Given the description of an element on the screen output the (x, y) to click on. 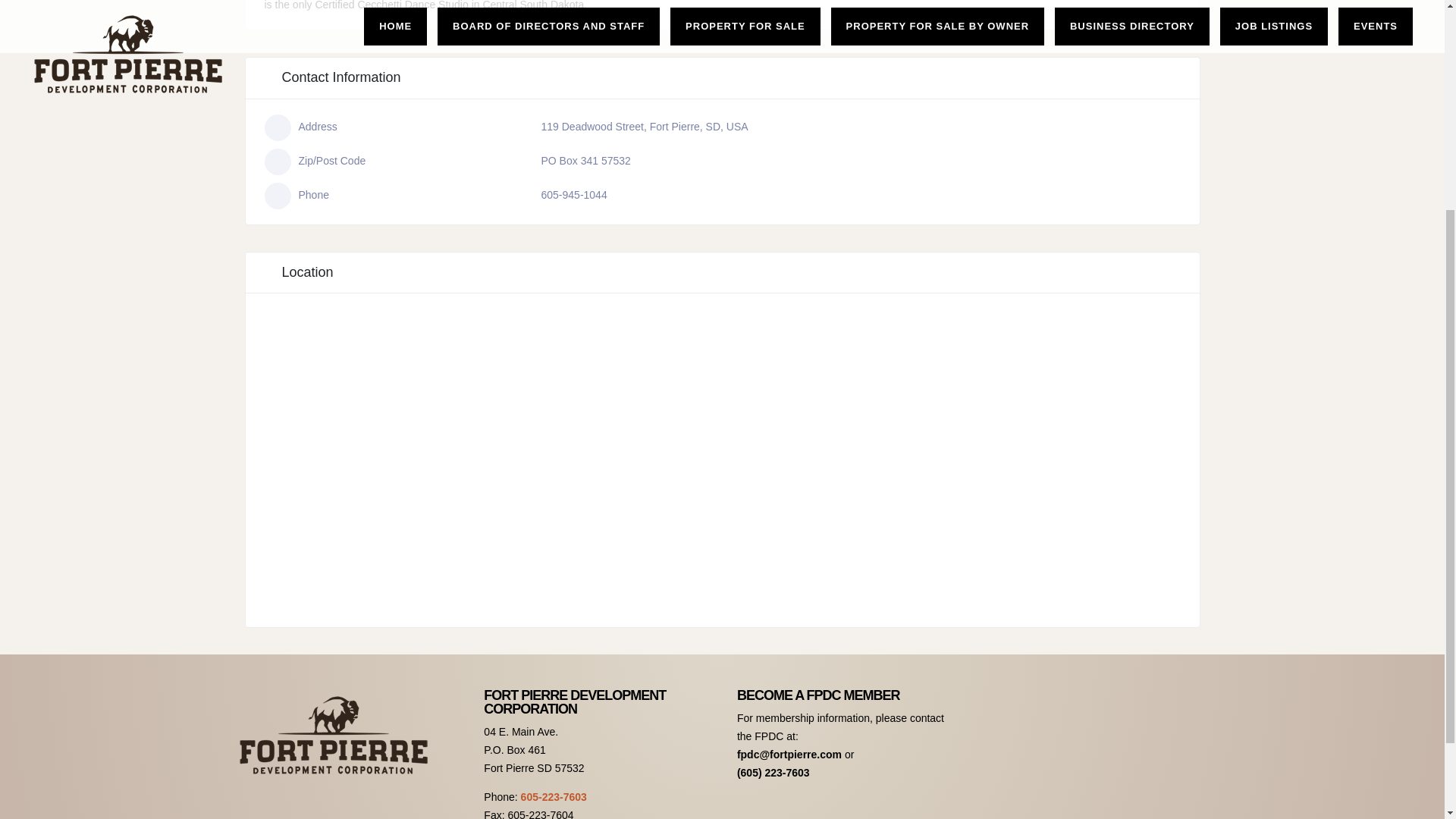
Fort Pierre Development Corporation (333, 735)
605-223-7603 (553, 797)
605-945-1044 (574, 194)
